Given the description of an element on the screen output the (x, y) to click on. 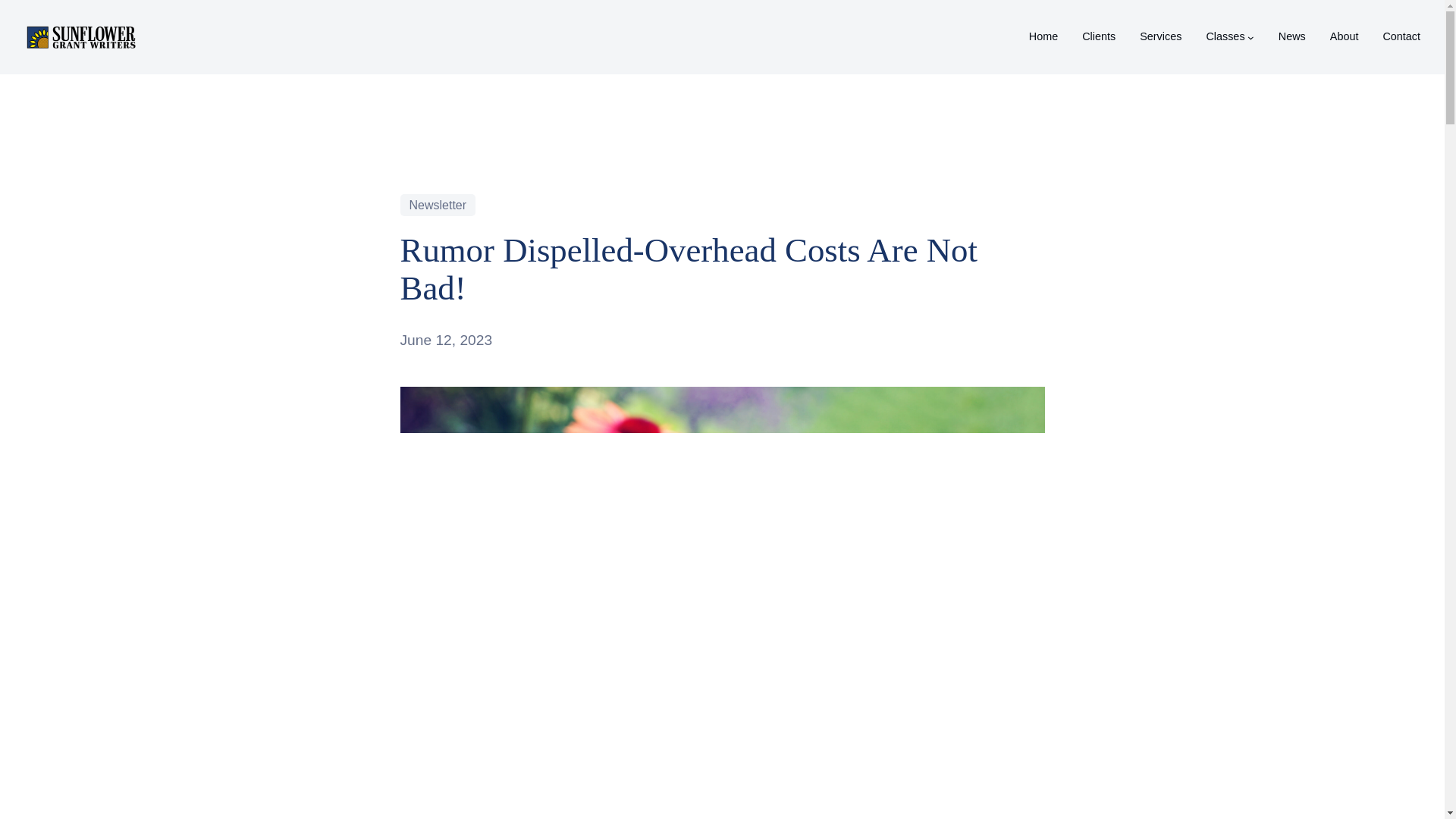
About (1344, 36)
Home (1043, 36)
Services (1160, 36)
Clients (1098, 36)
Classes (1224, 36)
News (1292, 36)
Newsletter (438, 205)
Contact (1401, 36)
